Given the description of an element on the screen output the (x, y) to click on. 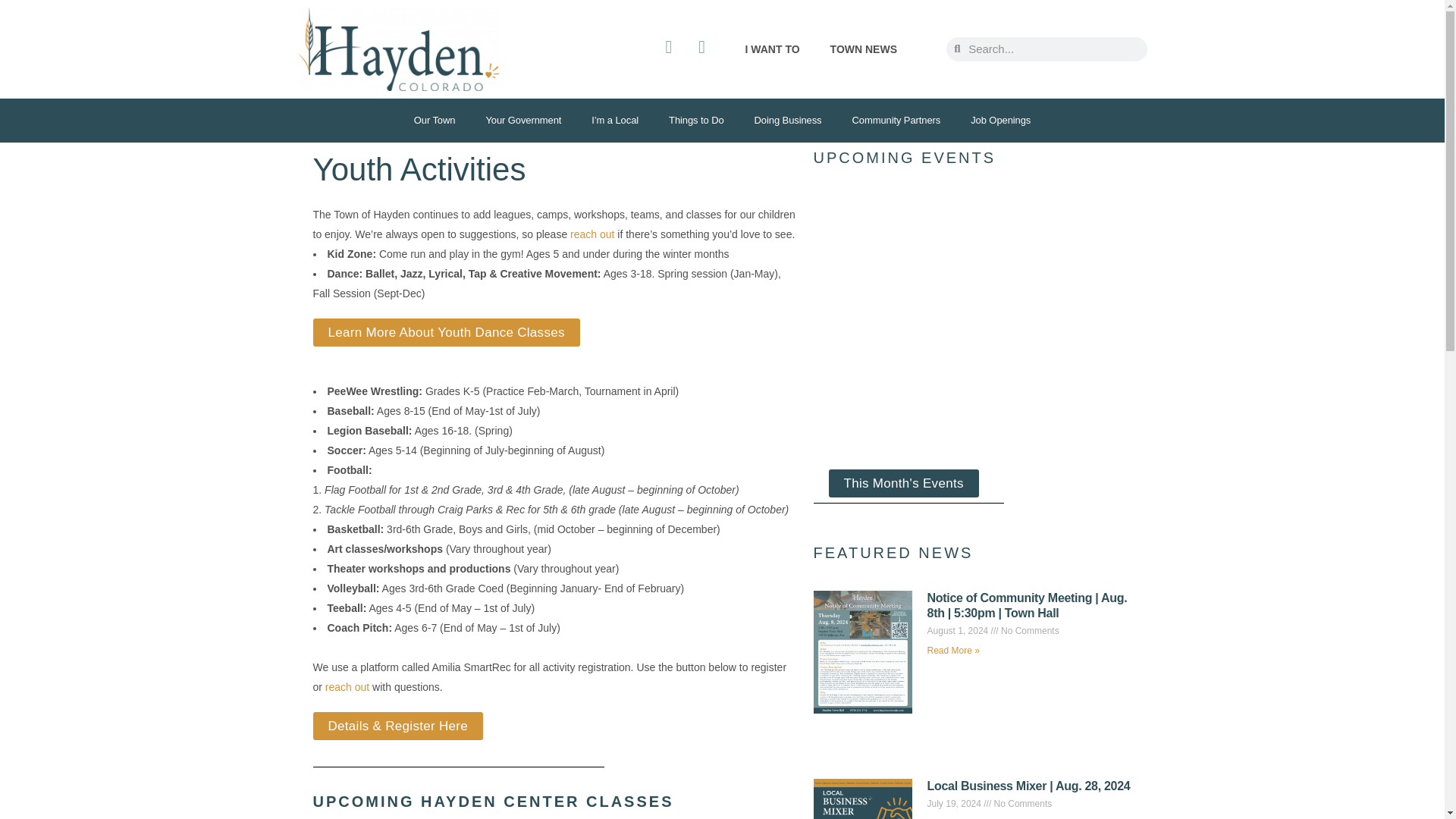
TOWN NEWS (863, 48)
I WANT TO (771, 48)
timely-iframe-embed-0 (971, 346)
Our Town (434, 120)
FULL primary logo, transparent (397, 48)
